Given the description of an element on the screen output the (x, y) to click on. 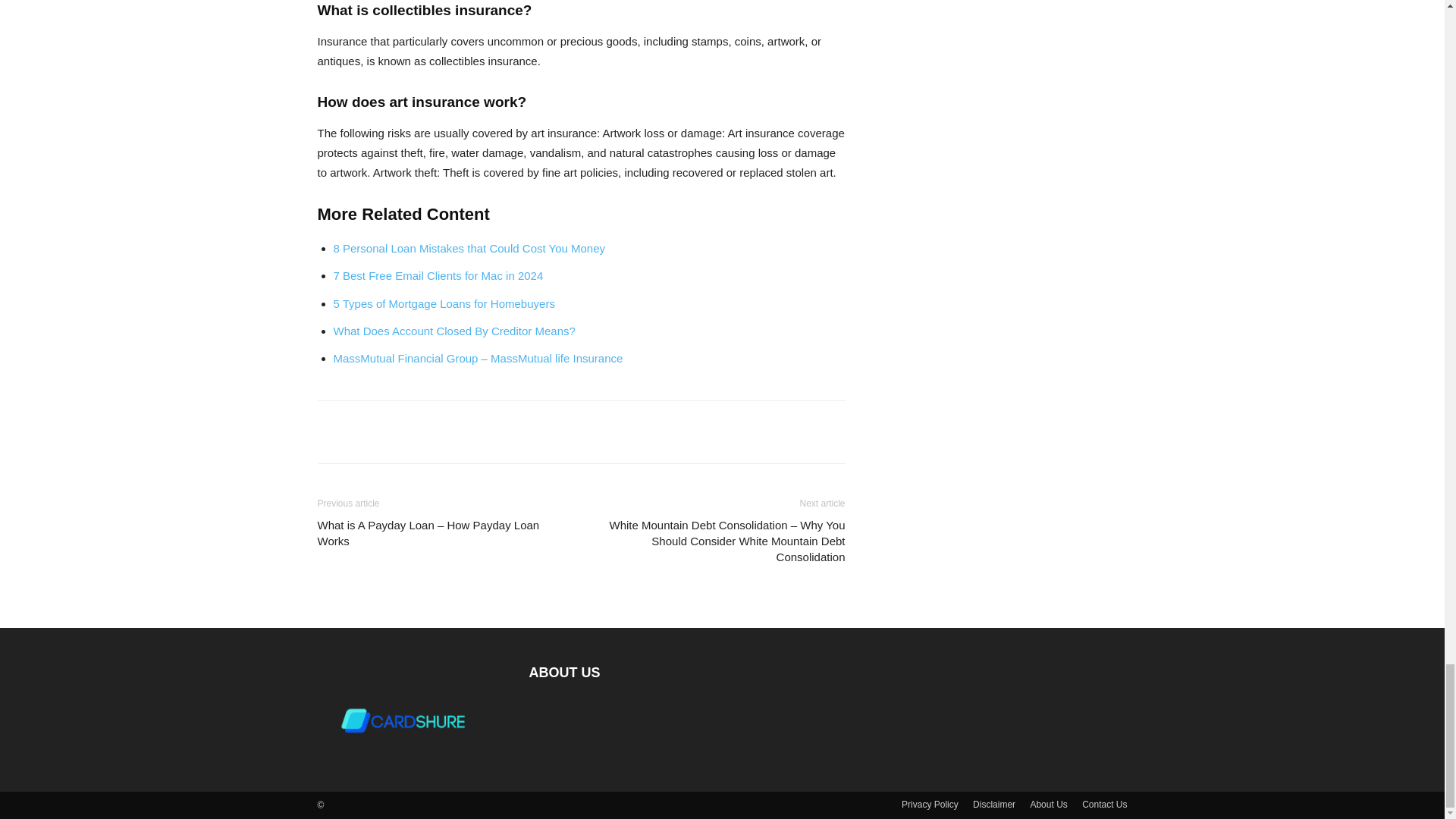
8 Personal Loan Mistakes that Could Cost You Money (469, 247)
8 Personal Loan Mistakes that Could Cost You Money (469, 247)
7 Best Free Email Clients for Mac in 2024 (438, 275)
What Does Account Closed By Creditor Means? (454, 330)
5 Types of Mortgage Loans for Homebuyers (443, 303)
5 Types of Mortgage Loans for Homebuyers (443, 303)
What Does Account Closed By Creditor Means? (454, 330)
7 Best Free Email Clients for Mac in 2024 (438, 275)
